Given the description of an element on the screen output the (x, y) to click on. 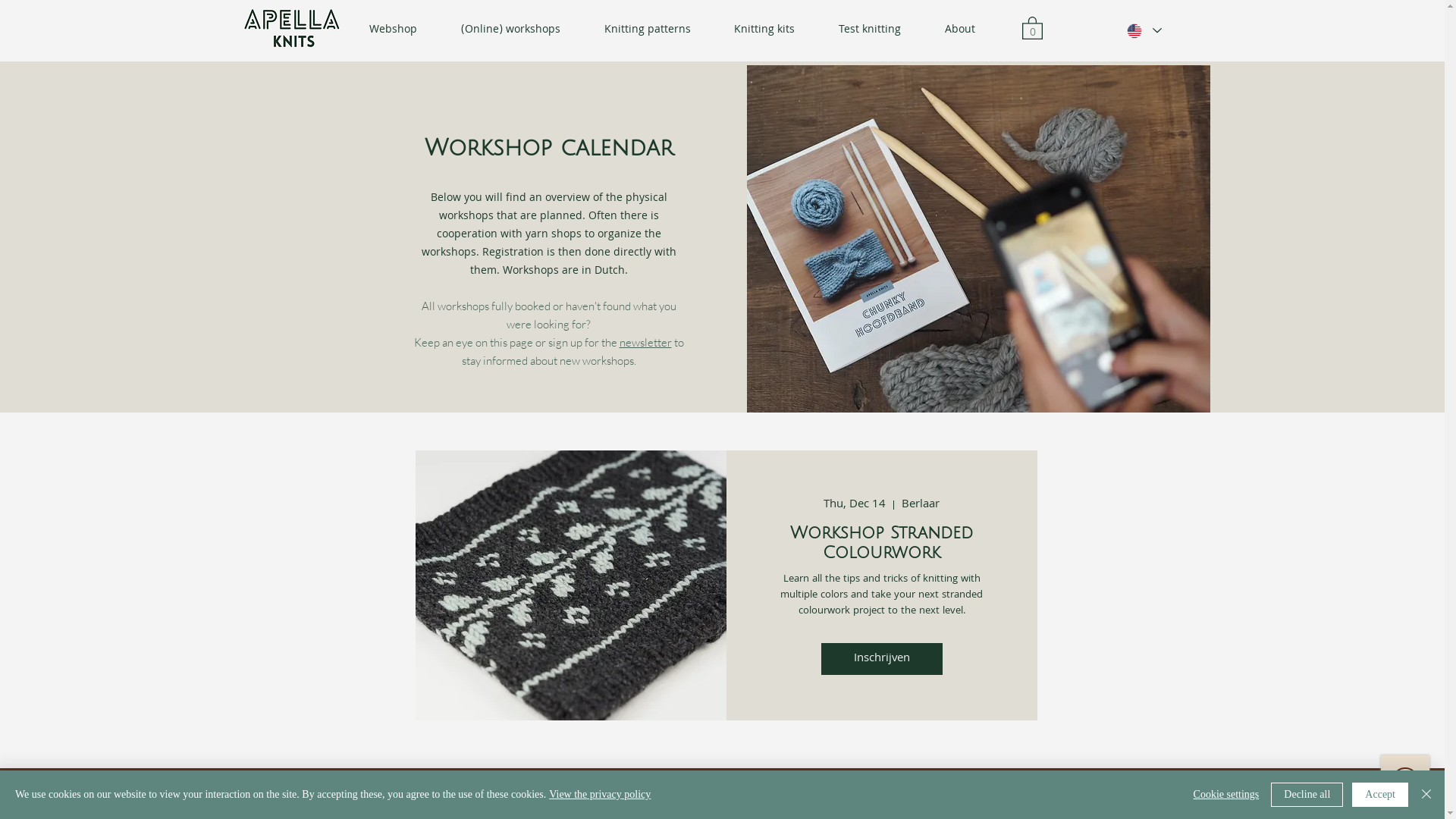
Test knitting Element type: text (869, 30)
View the privacy policy Element type: text (599, 794)
Contact Element type: text (900, 793)
0 Element type: text (1032, 27)
Knitting kits Element type: text (764, 30)
Inschrijven Element type: text (880, 658)
Accept Element type: text (1380, 794)
Terms and Conditions Element type: text (581, 793)
Knitting patterns Element type: text (647, 30)
Decline all Element type: text (1306, 794)
Webshop Element type: text (393, 30)
Workshop Stranded Colourwork Element type: text (881, 543)
Shipping and delivery Element type: text (748, 793)
Privacy Policy Element type: text (417, 793)
